Given the description of an element on the screen output the (x, y) to click on. 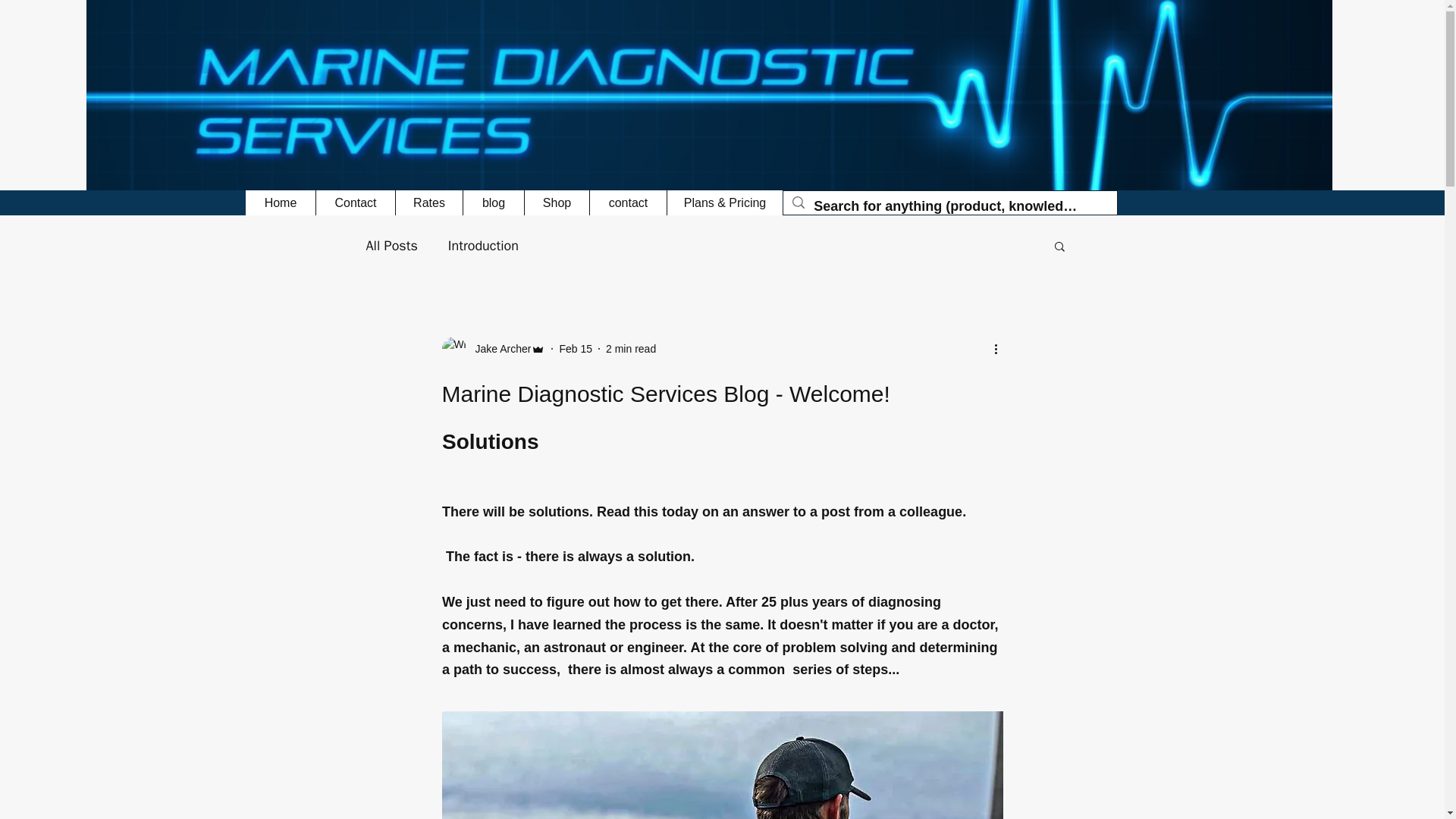
Introduction (483, 245)
Jake Archer (492, 348)
All Posts (390, 245)
Rates (428, 202)
Jake Archer (498, 349)
Contact (354, 202)
2 min read (630, 348)
Feb 15 (575, 348)
Shop (556, 202)
blog (493, 202)
